Given the description of an element on the screen output the (x, y) to click on. 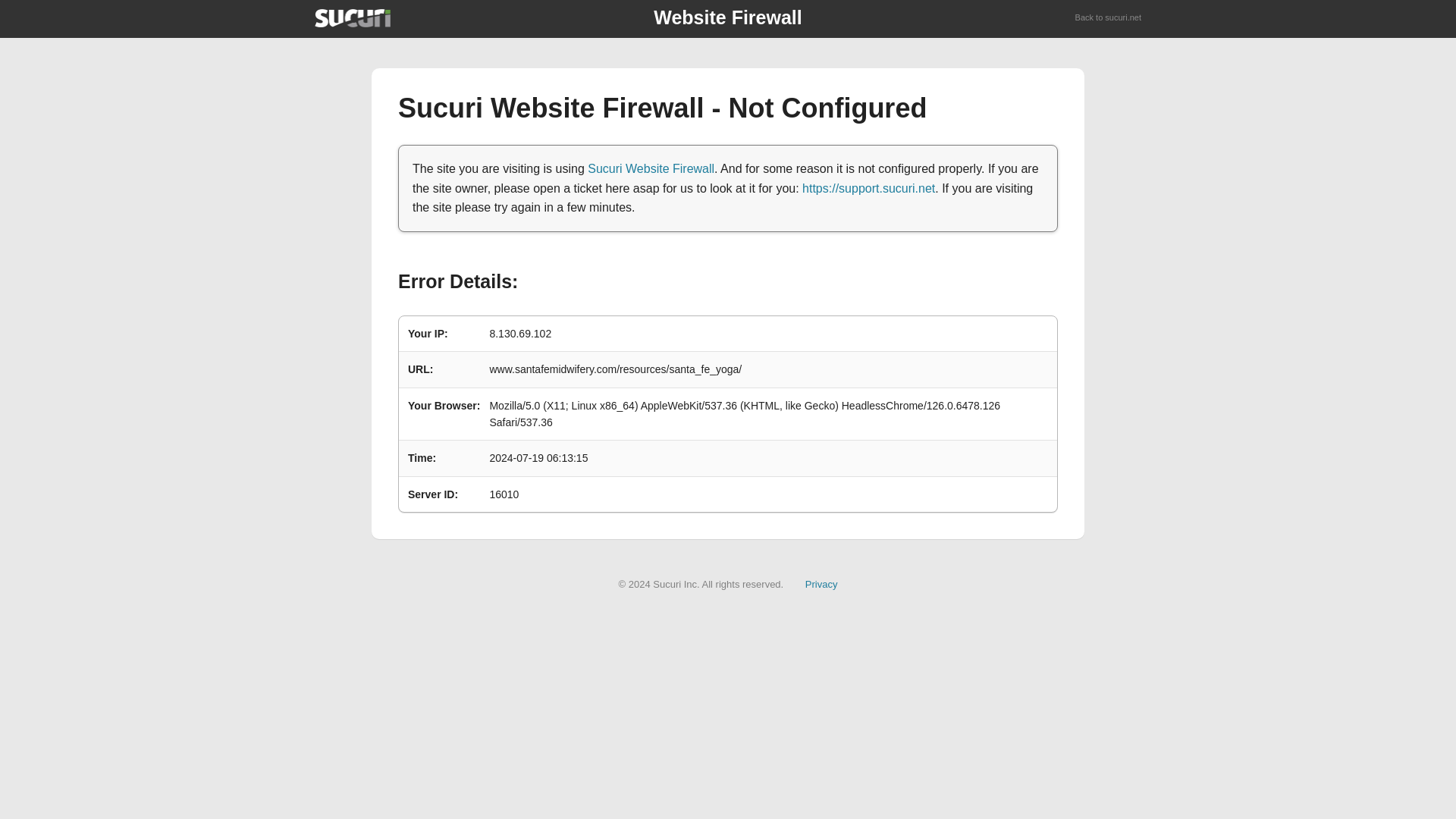
Back to sucuri.net (1108, 18)
Privacy (821, 583)
Sucuri Website Firewall (651, 168)
